Given the description of an element on the screen output the (x, y) to click on. 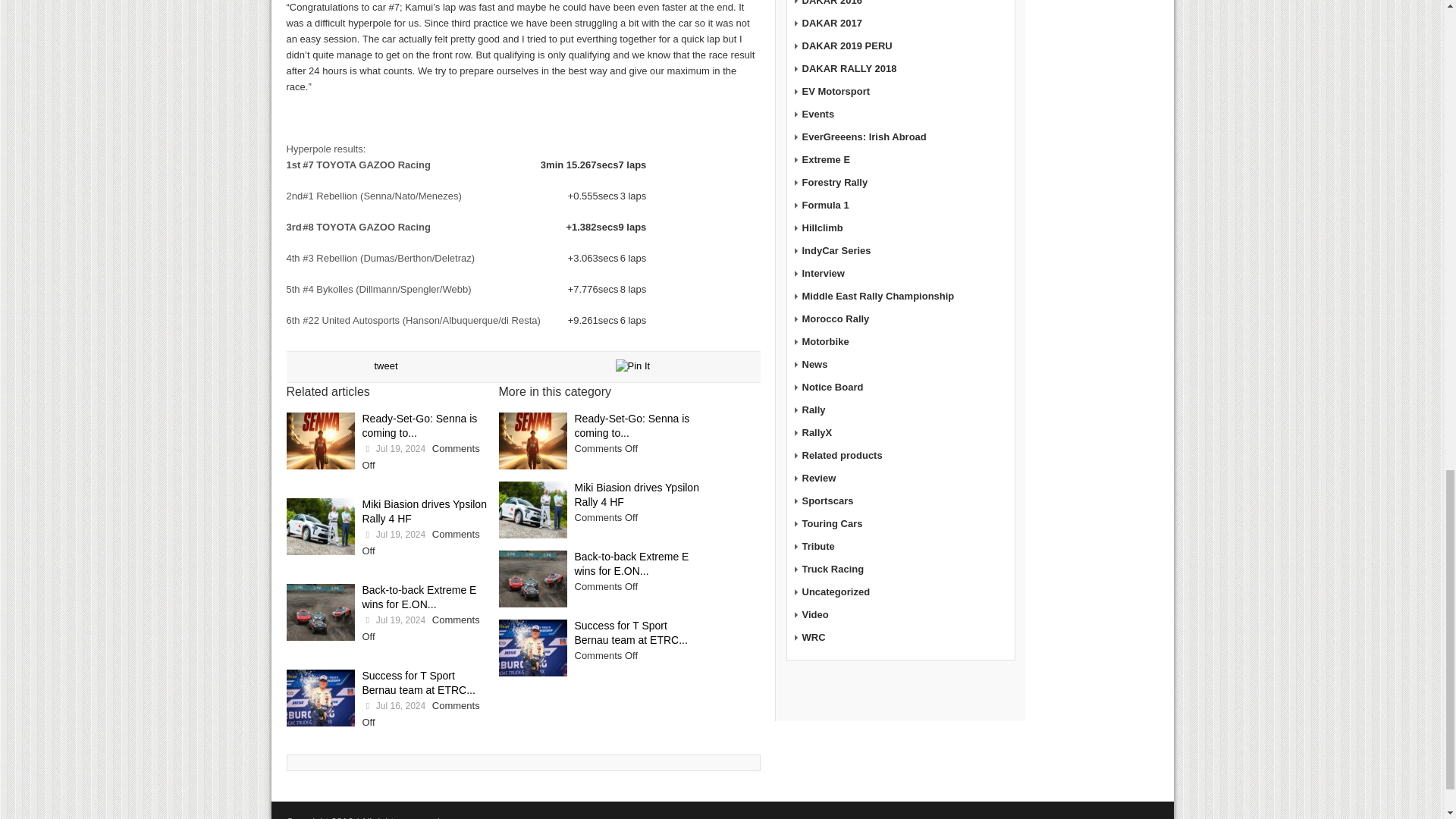
Miki Biasion drives Ypsilon Rally 4 HF (533, 509)
tweet (385, 365)
Miki Biasion drives Ypsilon Rally 4 HF (320, 526)
Ready-Set-Go: Senna is coming to Netflix this November (320, 440)
Ready-Set-Go: Senna is coming to Netflix this November (533, 440)
Permanent link to Miki Biasion drives Ypsilon Rally 4 HF (424, 510)
Pin It (632, 366)
Permanent link to Miki Biasion drives Ypsilon Rally 4 HF (636, 494)
